Given the description of an element on the screen output the (x, y) to click on. 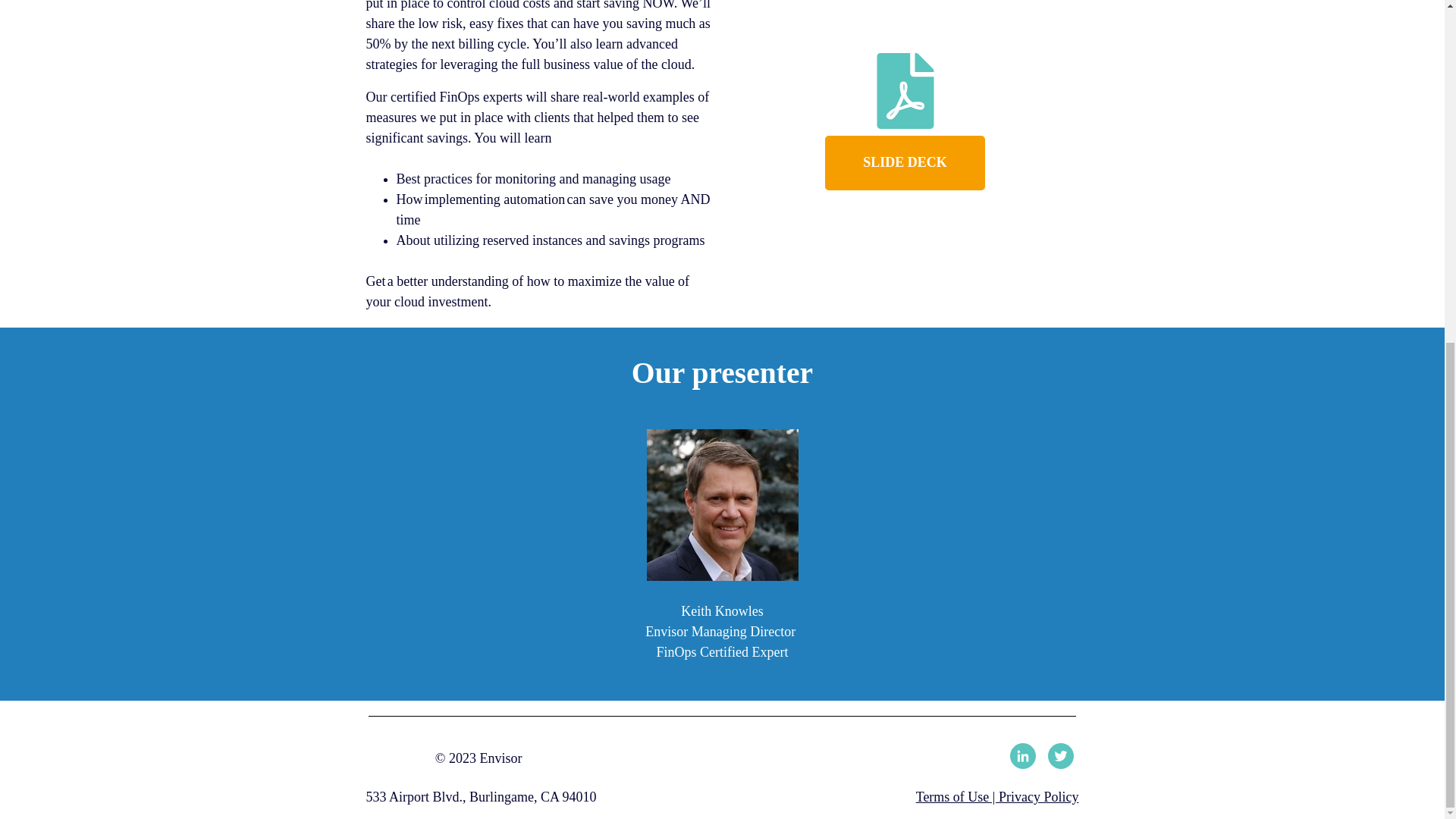
Privacy Policy (1038, 796)
Keith (721, 504)
SLIDE DECK (905, 162)
